Given the description of an element on the screen output the (x, y) to click on. 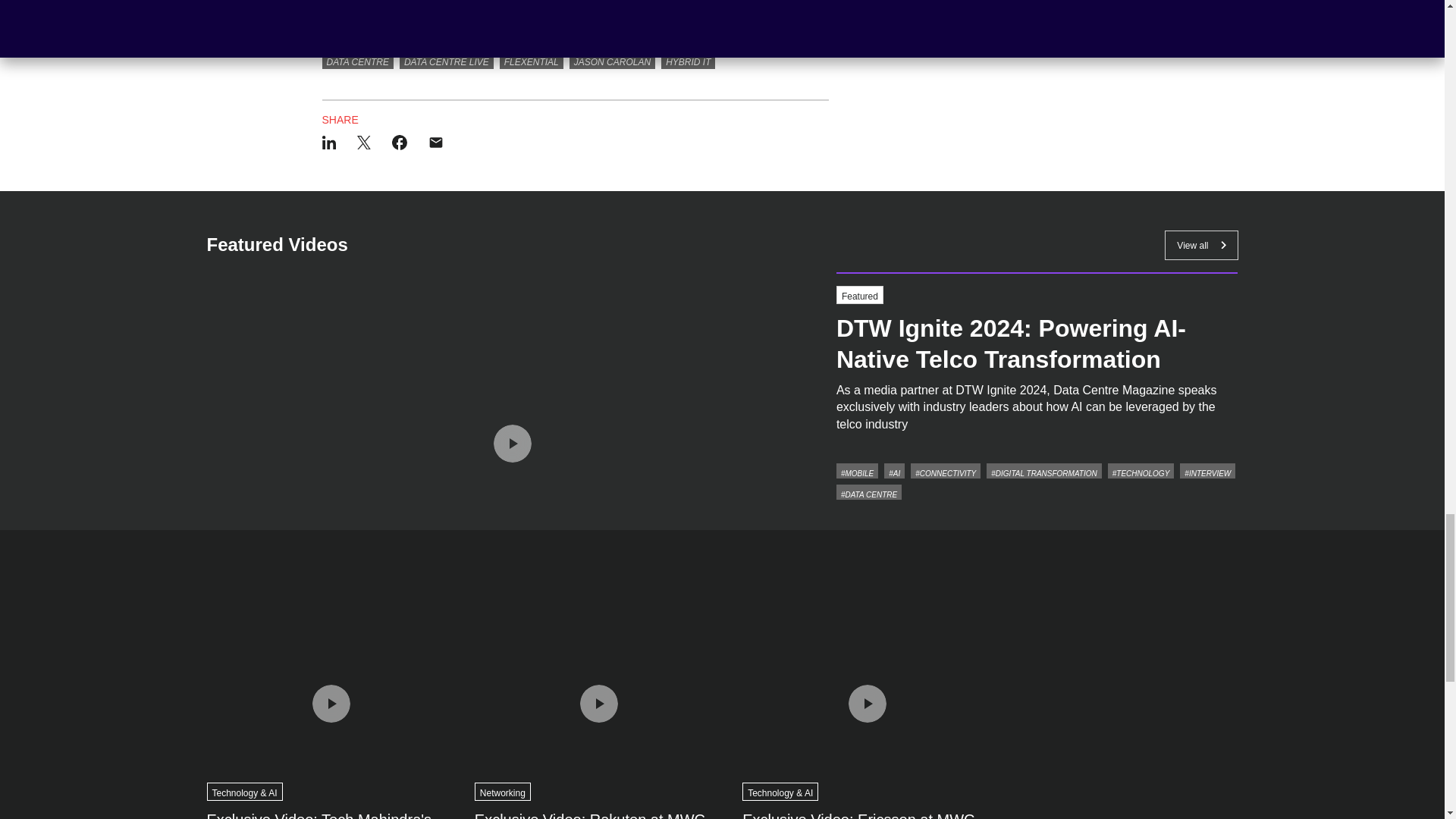
View all (1200, 245)
FLEXENTIAL (531, 60)
HYBRID IT (687, 60)
JASON CAROLAN (612, 60)
DATA CENTRE LIVE (445, 60)
DATA CENTRE (357, 60)
